Given the description of an element on the screen output the (x, y) to click on. 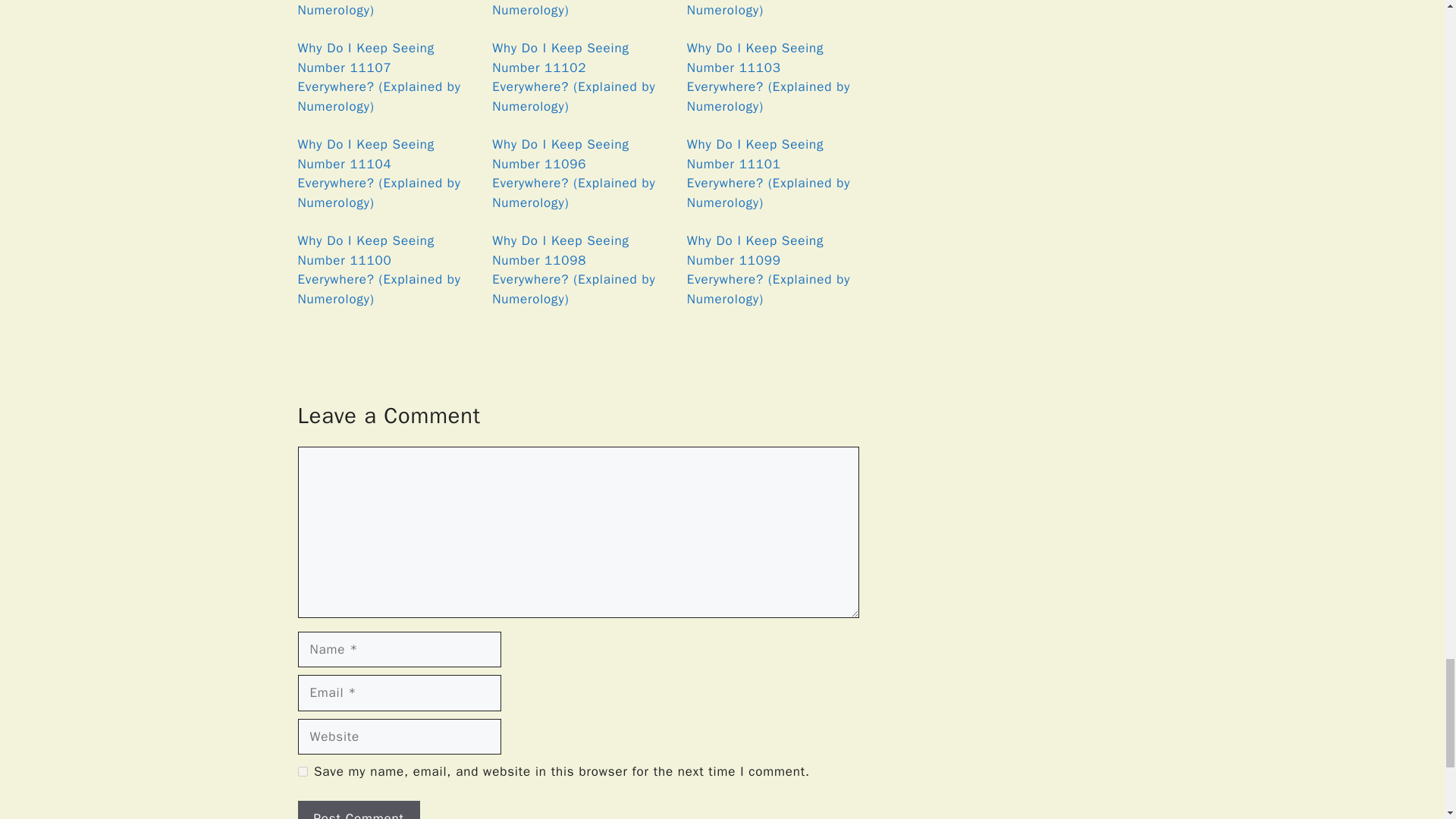
Post Comment (358, 809)
yes (302, 771)
